Given the description of an element on the screen output the (x, y) to click on. 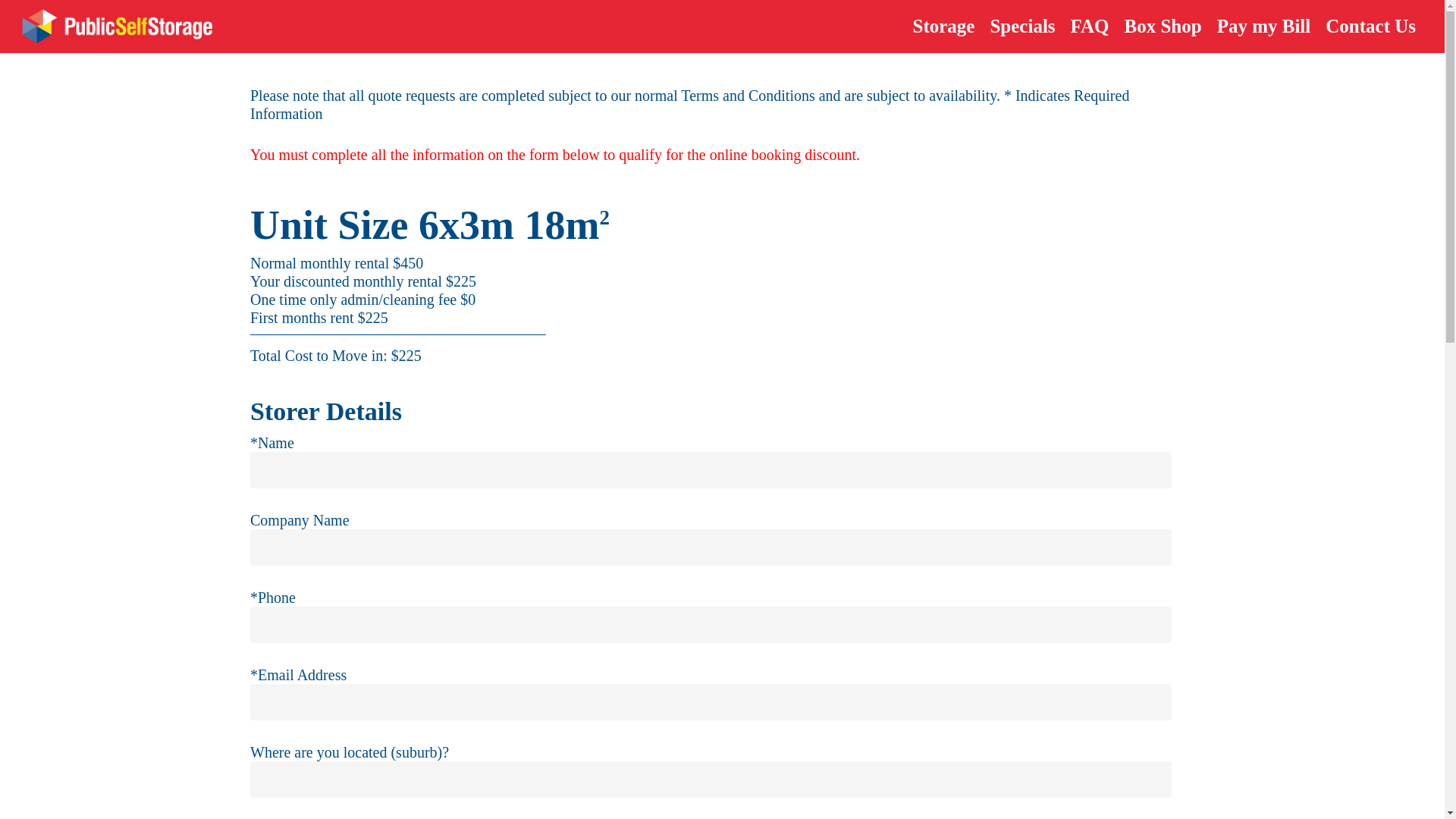
Pay my Bill (1264, 26)
Specials (1021, 26)
FAQ (1089, 26)
Storage (943, 26)
Box Shop (1162, 26)
Contact Us (1370, 26)
